Given the description of an element on the screen output the (x, y) to click on. 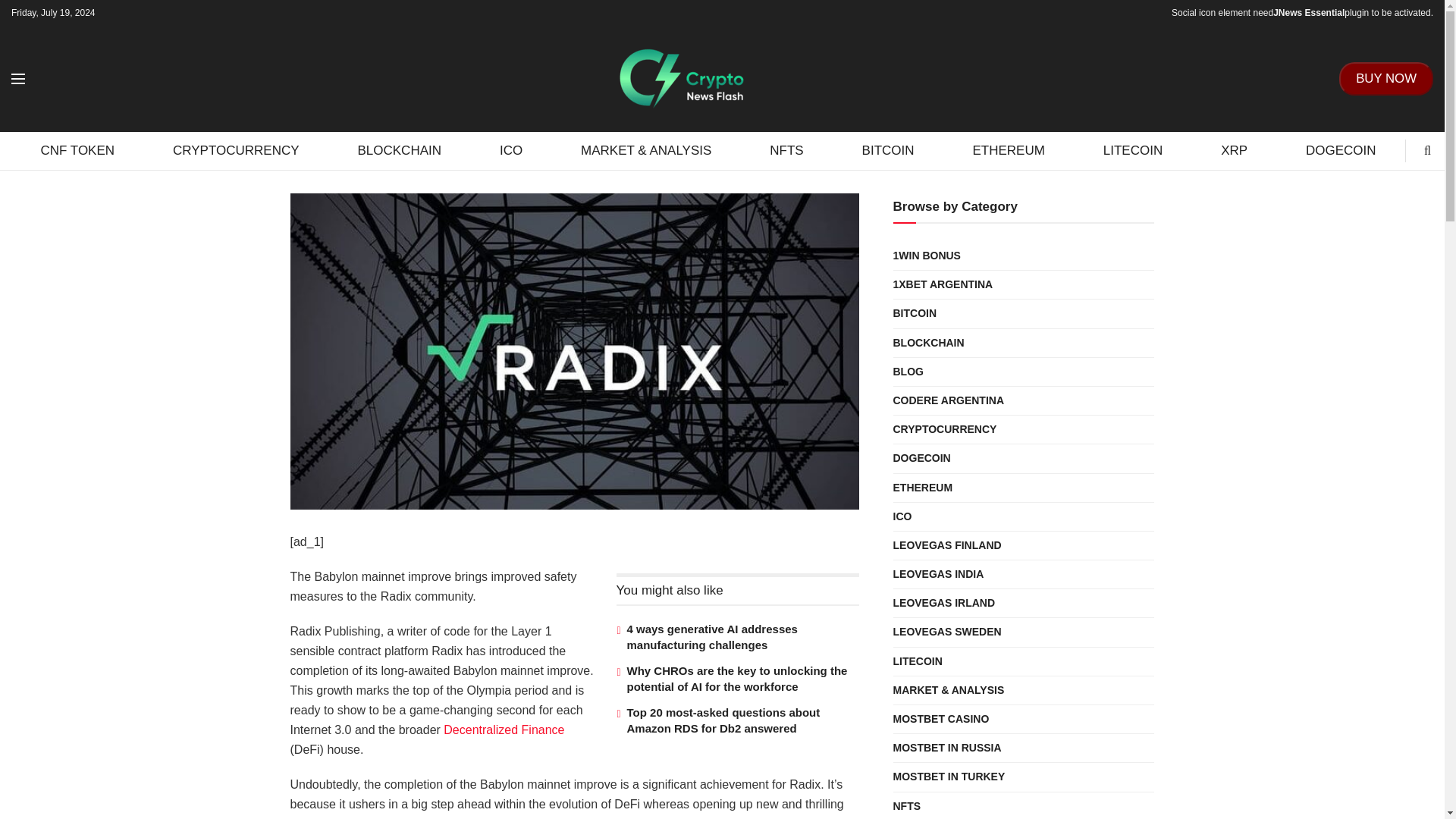
CRYPTOCURRENCY (236, 150)
ICO (510, 150)
BUY NOW (1385, 78)
BITCOIN (887, 150)
LITECOIN (1132, 150)
CNF TOKEN (77, 150)
BUY NOW (1385, 78)
XRP (1234, 150)
NFTS (786, 150)
Decentralized Finance (504, 729)
BLOCKCHAIN (399, 150)
ETHEREUM (1008, 150)
4 ways generative AI addresses manufacturing challenges (711, 636)
